Given the description of an element on the screen output the (x, y) to click on. 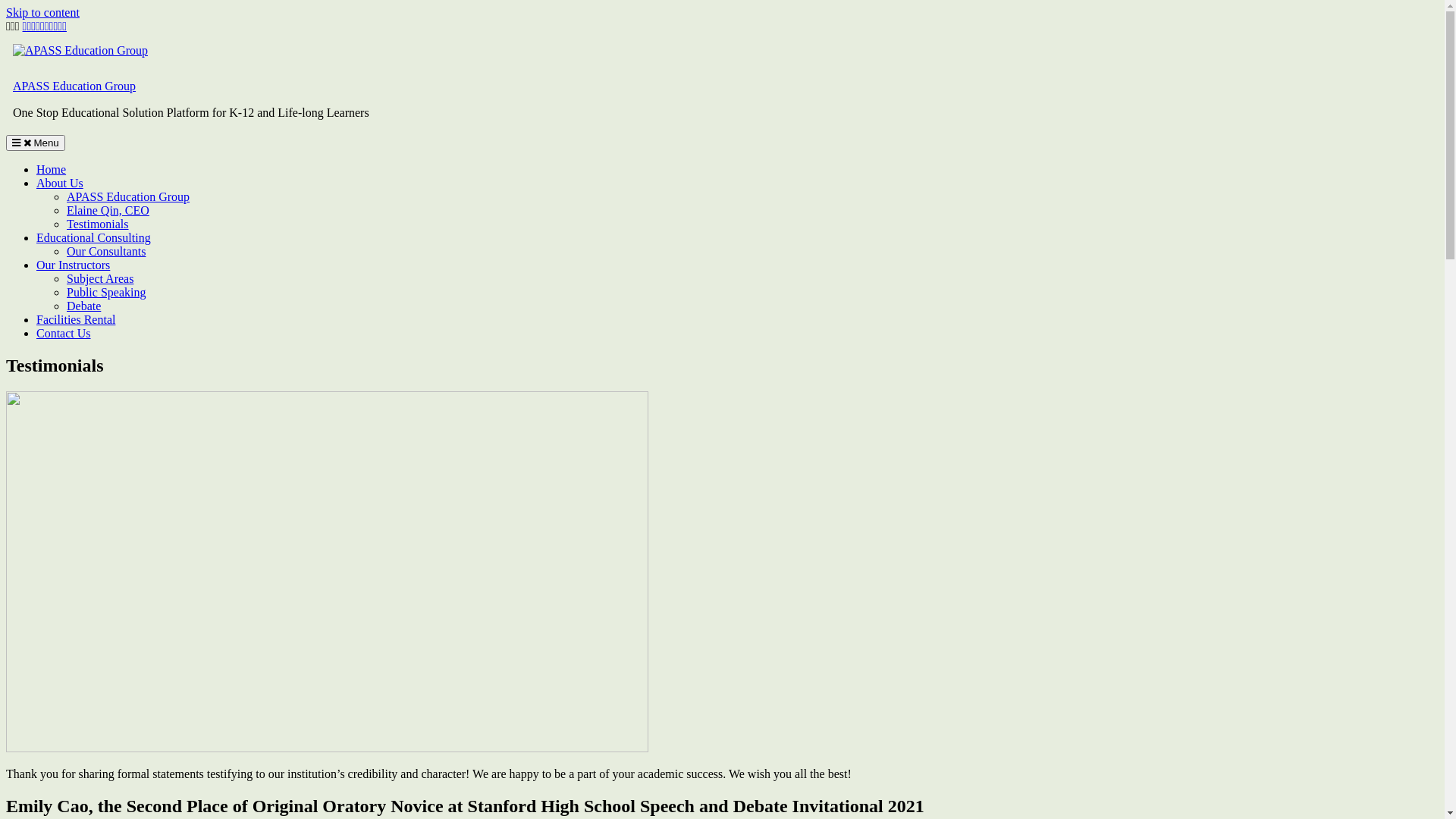
Testimonials Element type: text (97, 223)
Skip to content Element type: text (42, 12)
Our Consultants Element type: text (105, 250)
APASS Education Group Element type: text (73, 85)
Contact Us Element type: text (63, 332)
Our Instructors Element type: text (72, 264)
About Us Element type: text (59, 182)
Menu Element type: text (35, 142)
Debate Element type: text (83, 305)
Subject Areas Element type: text (99, 278)
Home Element type: text (50, 169)
APASS Education Group Element type: text (127, 196)
Public Speaking Element type: text (105, 291)
Facilities Rental Element type: text (75, 319)
Elaine Qin, CEO Element type: text (107, 209)
Educational Consulting Element type: text (93, 237)
